Given the description of an element on the screen output the (x, y) to click on. 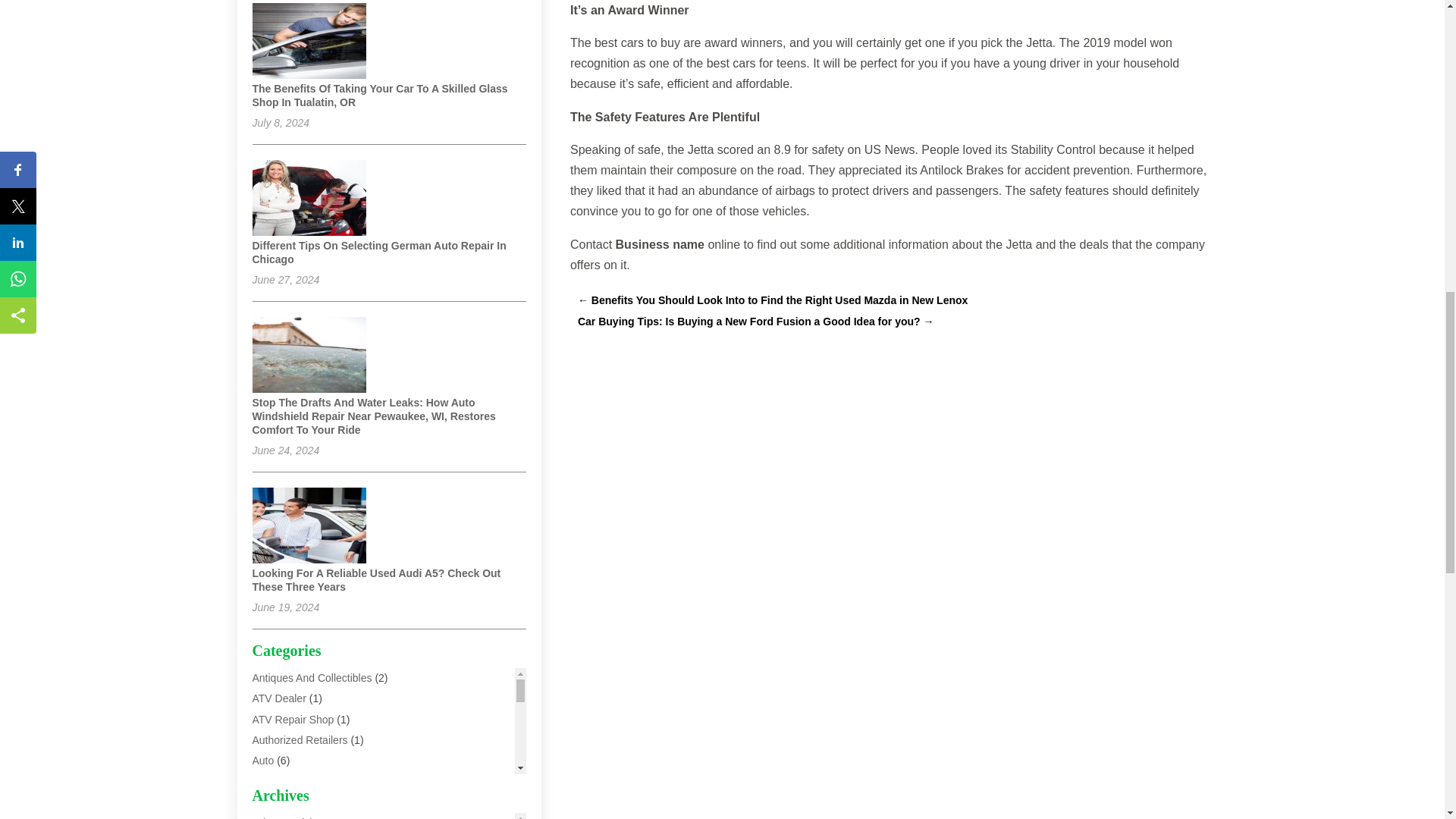
ATV Dealer (278, 698)
Auto Dealer (279, 801)
Auto Dealer. (280, 817)
Auto (262, 760)
Auto Body (276, 780)
ATV Repair Shop (292, 719)
Authorized Retailers (299, 739)
Different Tips On Selecting German Auto Repair In Chicago (378, 252)
Antiques And Collectibles (311, 677)
